Given the description of an element on the screen output the (x, y) to click on. 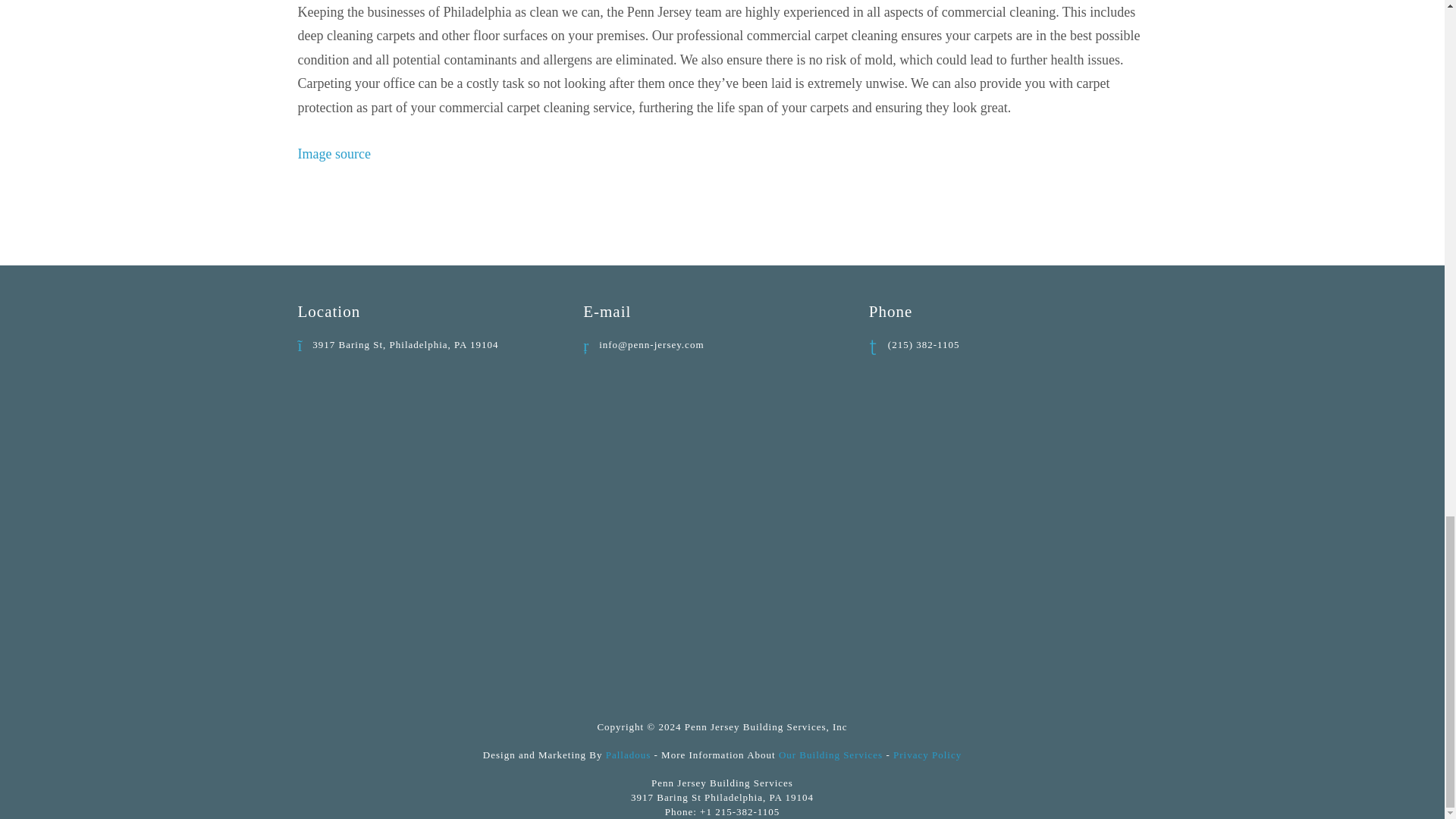
Palladous (627, 754)
Our Building Services (830, 754)
Image source (333, 153)
Privacy Policy (926, 754)
